Given the description of an element on the screen output the (x, y) to click on. 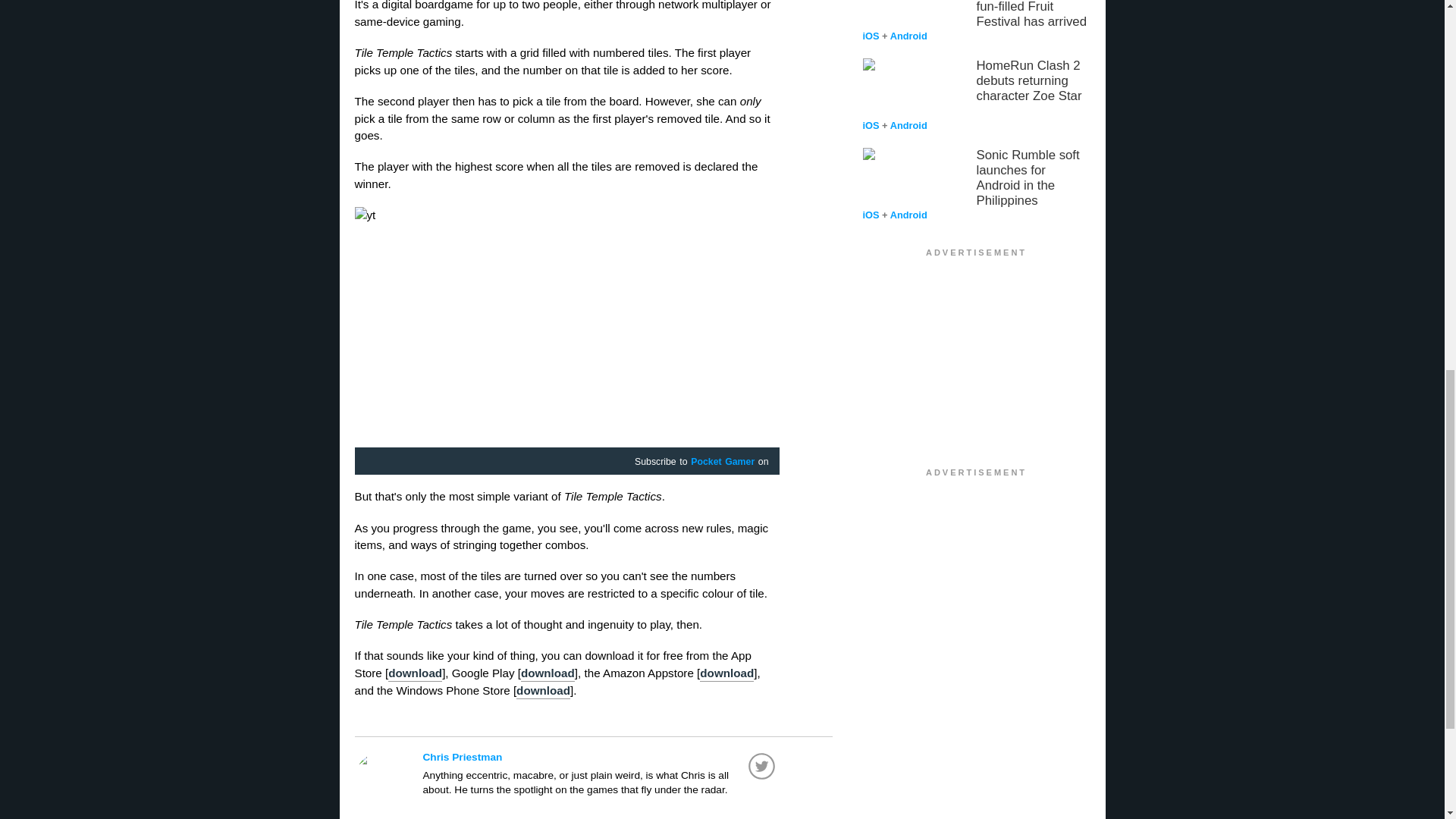
download (415, 673)
download (548, 673)
Pocket Gamer (722, 462)
Chris Priestman (600, 757)
download (543, 691)
download (727, 673)
